Given the description of an element on the screen output the (x, y) to click on. 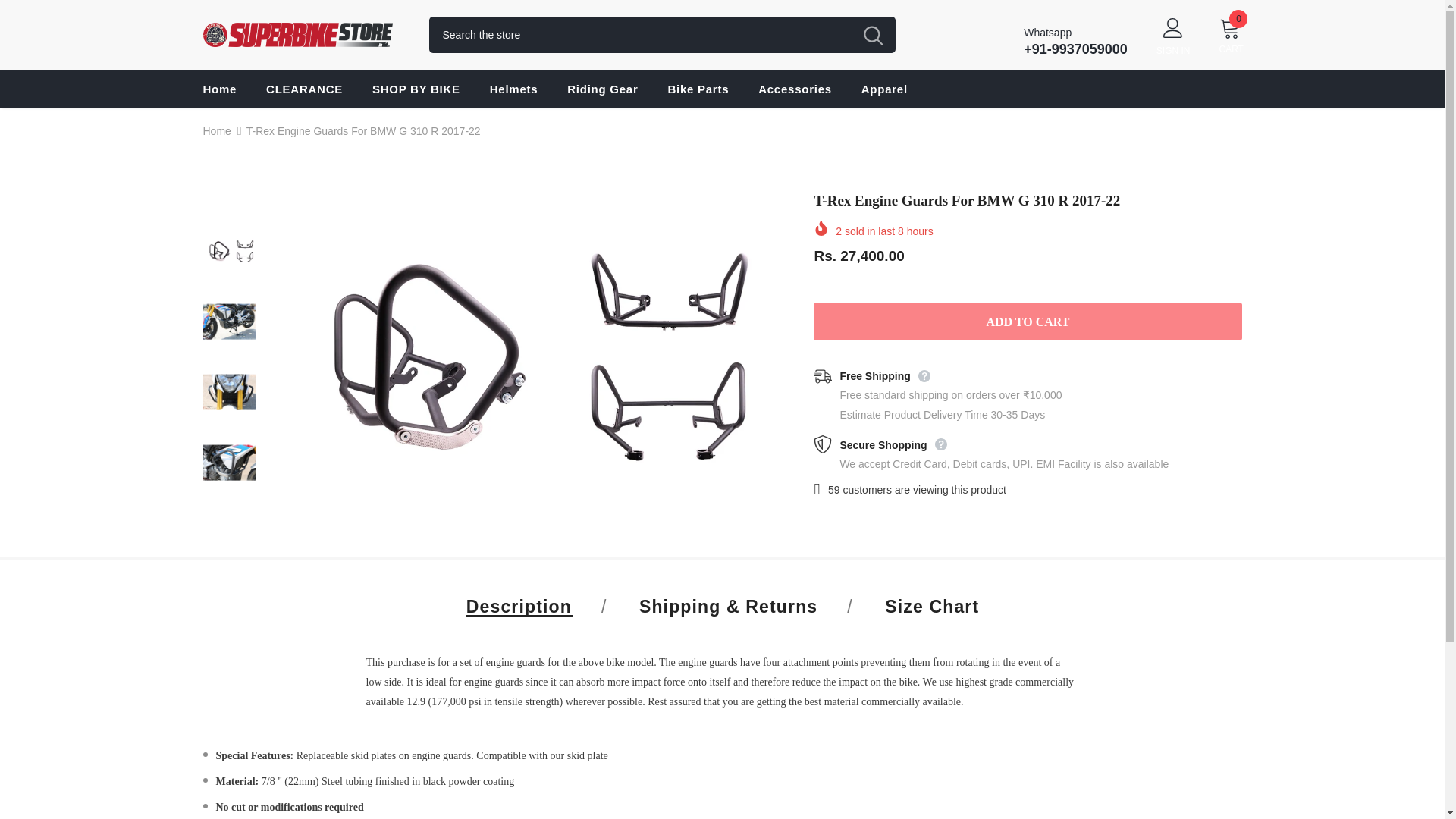
Logo (304, 34)
User Icon (1173, 26)
Add to cart (1027, 321)
